Given the description of an element on the screen output the (x, y) to click on. 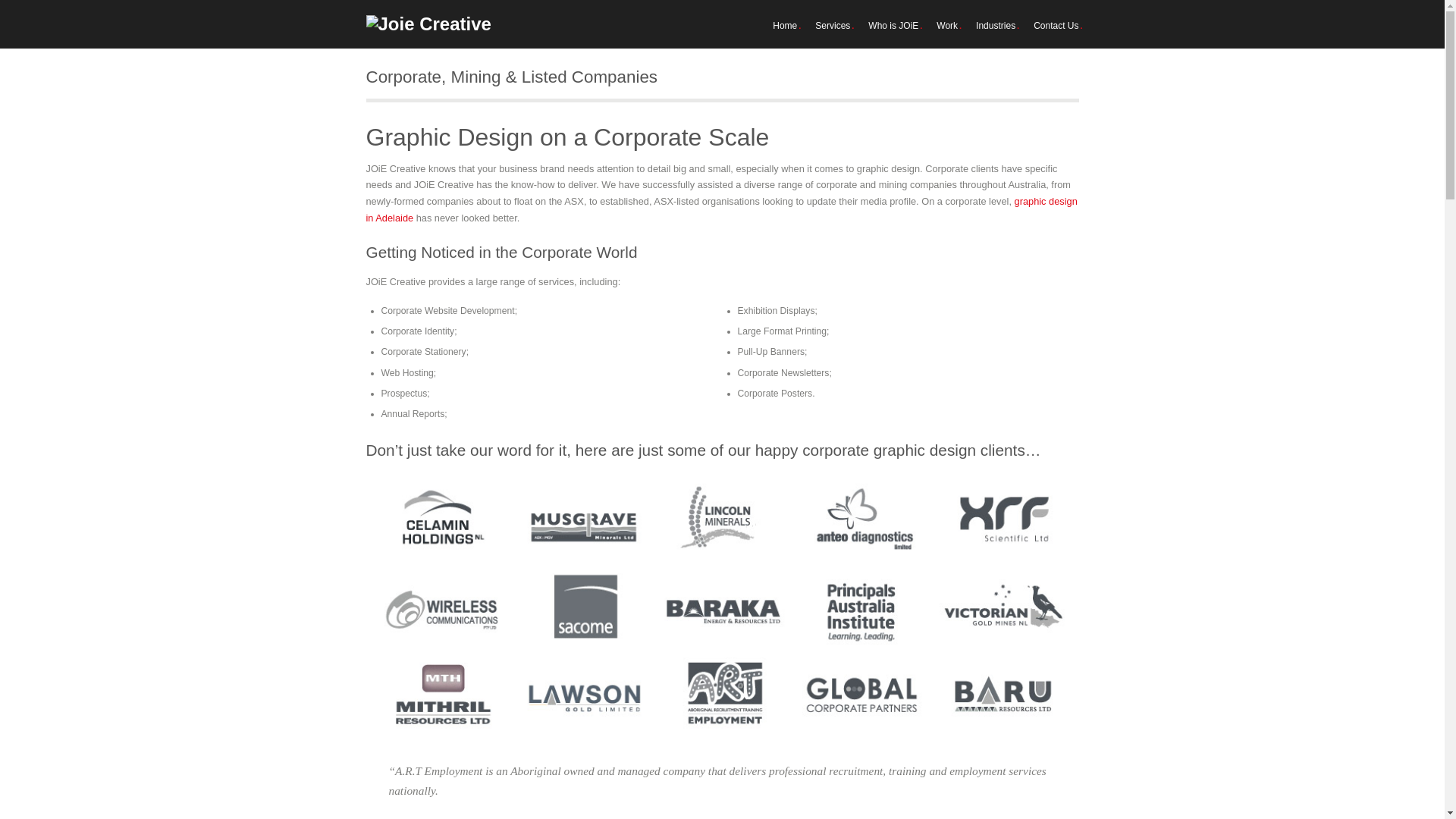
Work Element type: text (946, 25)
Who is JOiE Element type: text (893, 25)
Services Element type: text (832, 25)
Home Element type: text (784, 25)
graphic design in Adelaide Element type: text (720, 209)
Contact Us Element type: text (1055, 25)
